Given the description of an element on the screen output the (x, y) to click on. 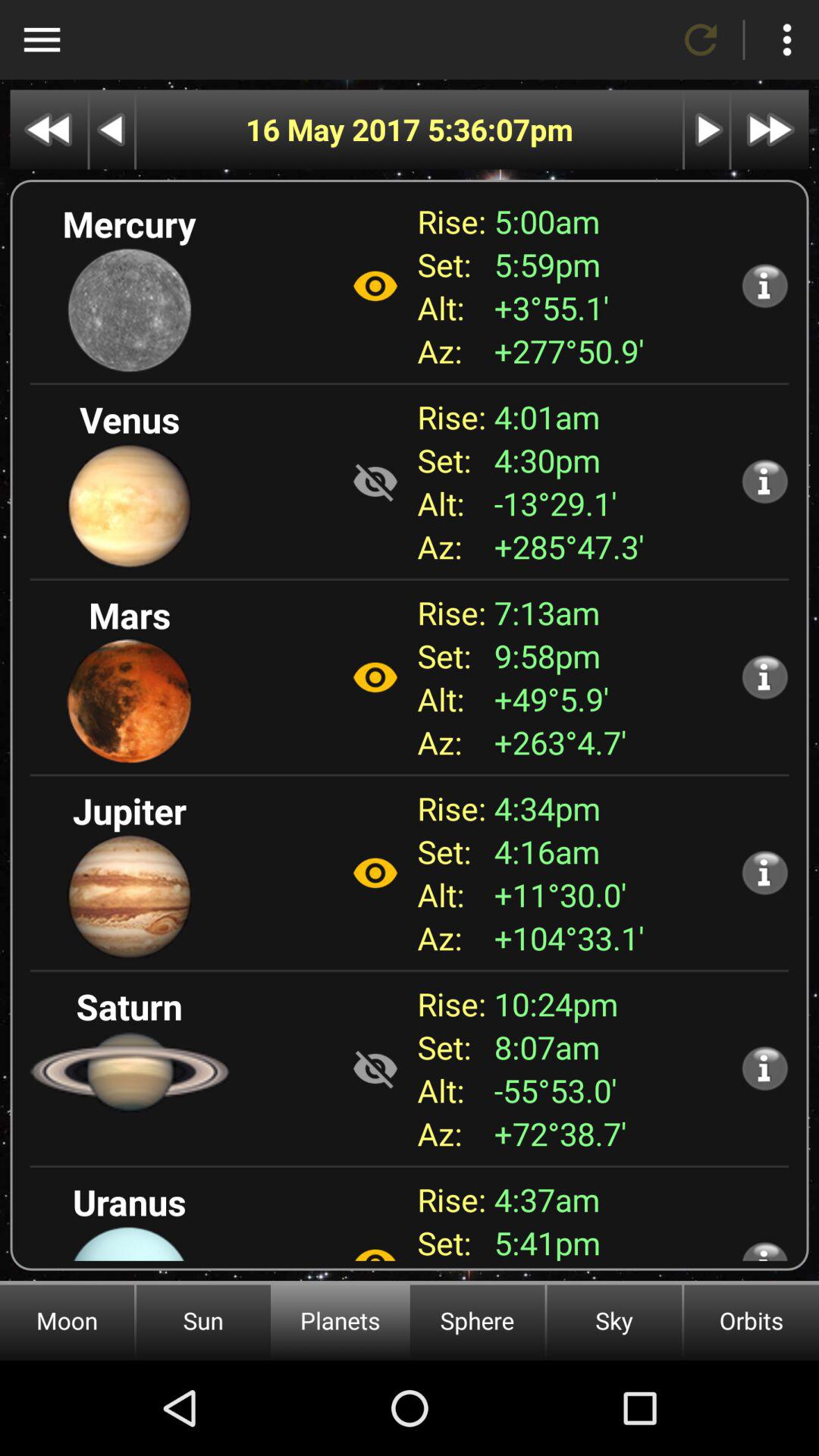
hide (375, 1246)
